Given the description of an element on the screen output the (x, y) to click on. 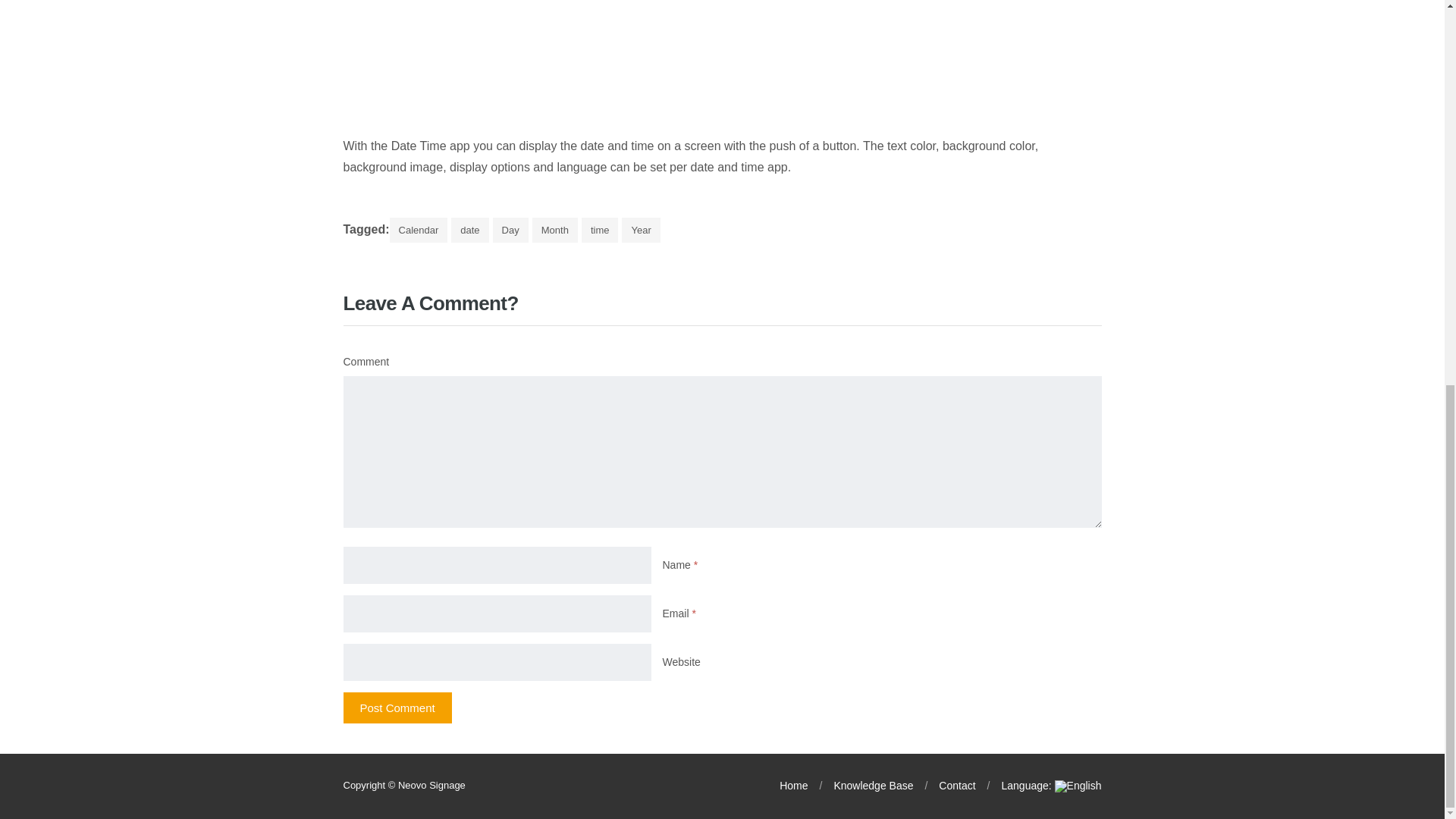
Language:  (1038, 786)
Contact (943, 785)
Home (793, 785)
Year (640, 229)
Calendar (419, 229)
English (1038, 786)
Post Comment (396, 707)
Month (555, 229)
time (599, 229)
Post Comment (396, 707)
Knowledge Base (861, 785)
Day (510, 229)
date (469, 229)
